Given the description of an element on the screen output the (x, y) to click on. 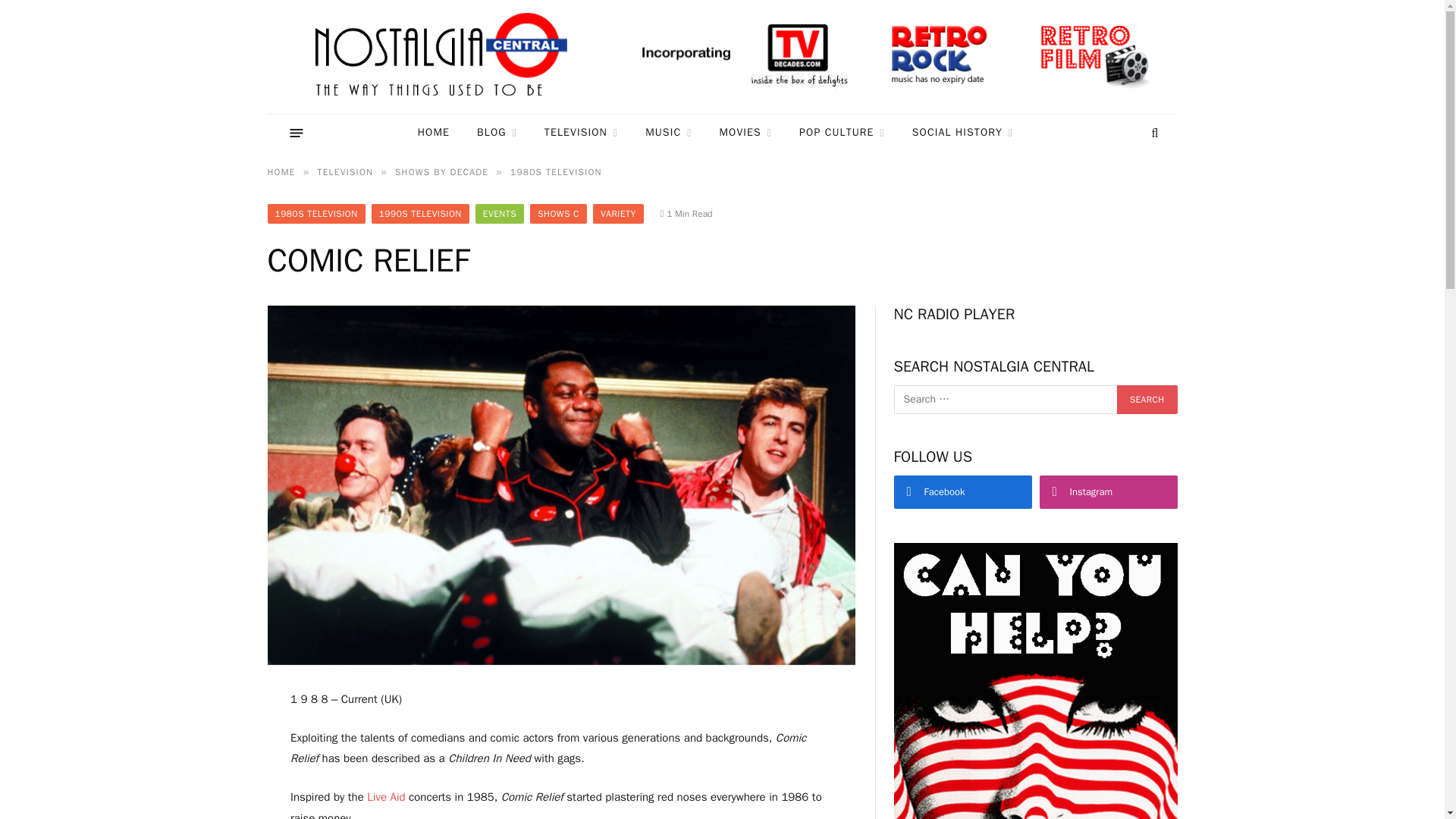
TELEVISION (581, 132)
Search (1146, 399)
Nostalgia Central (444, 56)
Search (1146, 399)
BLOG (497, 132)
HOME (433, 132)
Search (1153, 132)
